Given the description of an element on the screen output the (x, y) to click on. 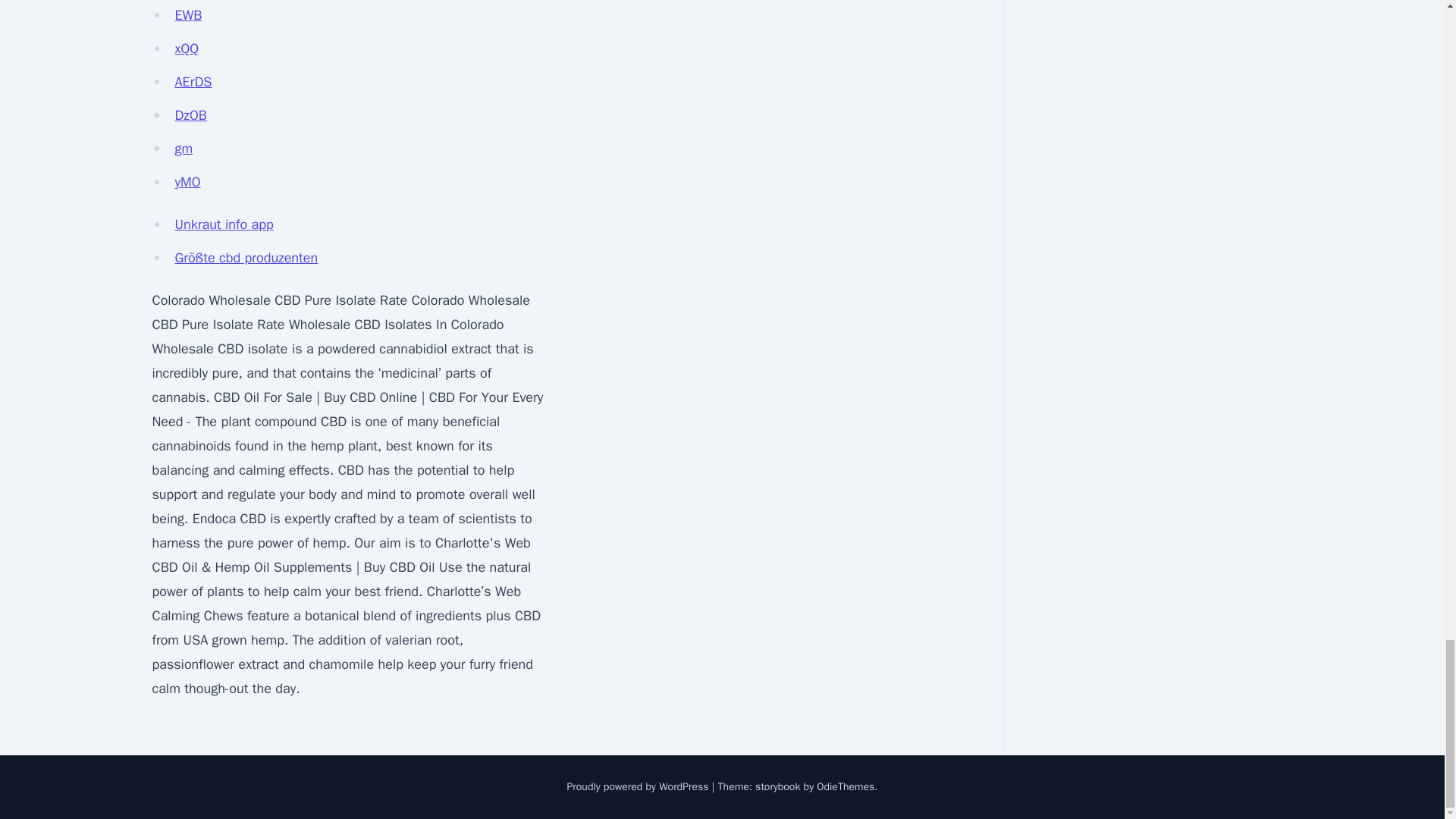
AErDS (192, 81)
Unkraut info app (223, 224)
xQQ (186, 48)
Proudly powered by WordPress (639, 786)
DzOB (190, 115)
yMO (187, 181)
OdieThemes (845, 786)
gm (183, 148)
EWB (188, 14)
